Given the description of an element on the screen output the (x, y) to click on. 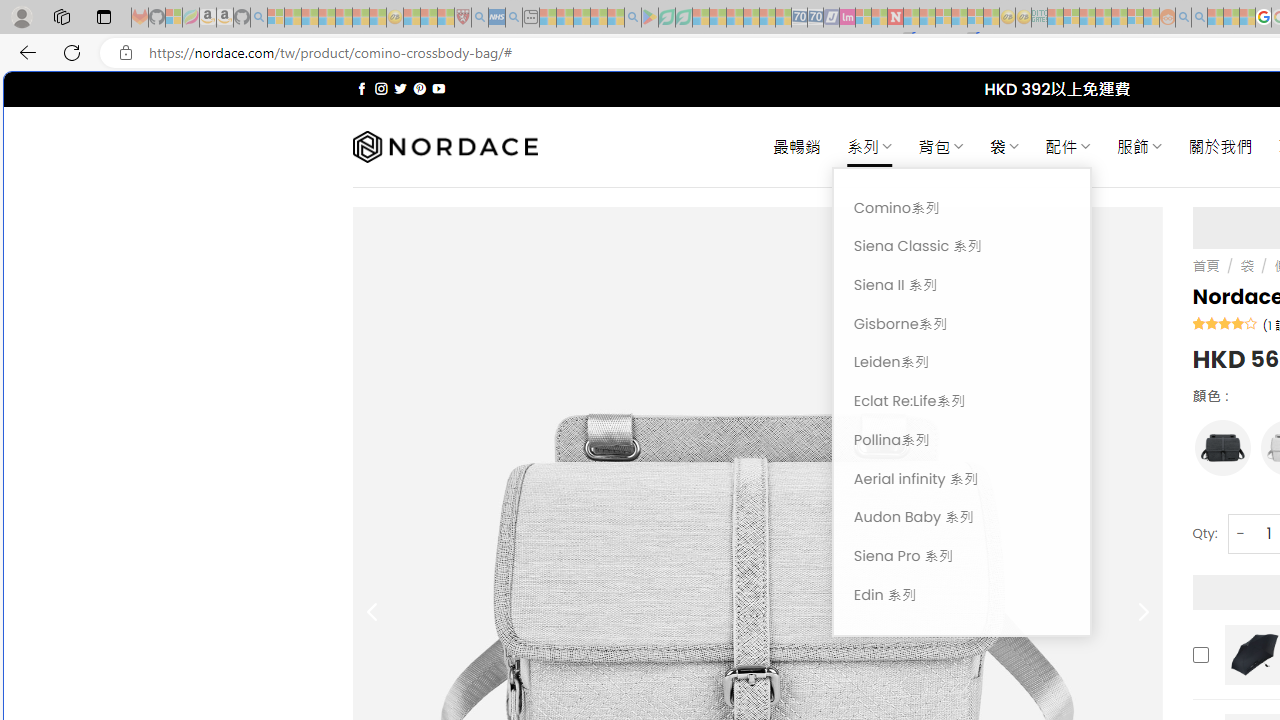
Expert Portfolios - Sleeping (1103, 17)
Recipes - MSN - Sleeping (411, 17)
Utah sues federal government - Search - Sleeping (1199, 17)
Follow on Instagram (381, 88)
Microsoft account | Privacy - Sleeping (1071, 17)
